Given the description of an element on the screen output the (x, y) to click on. 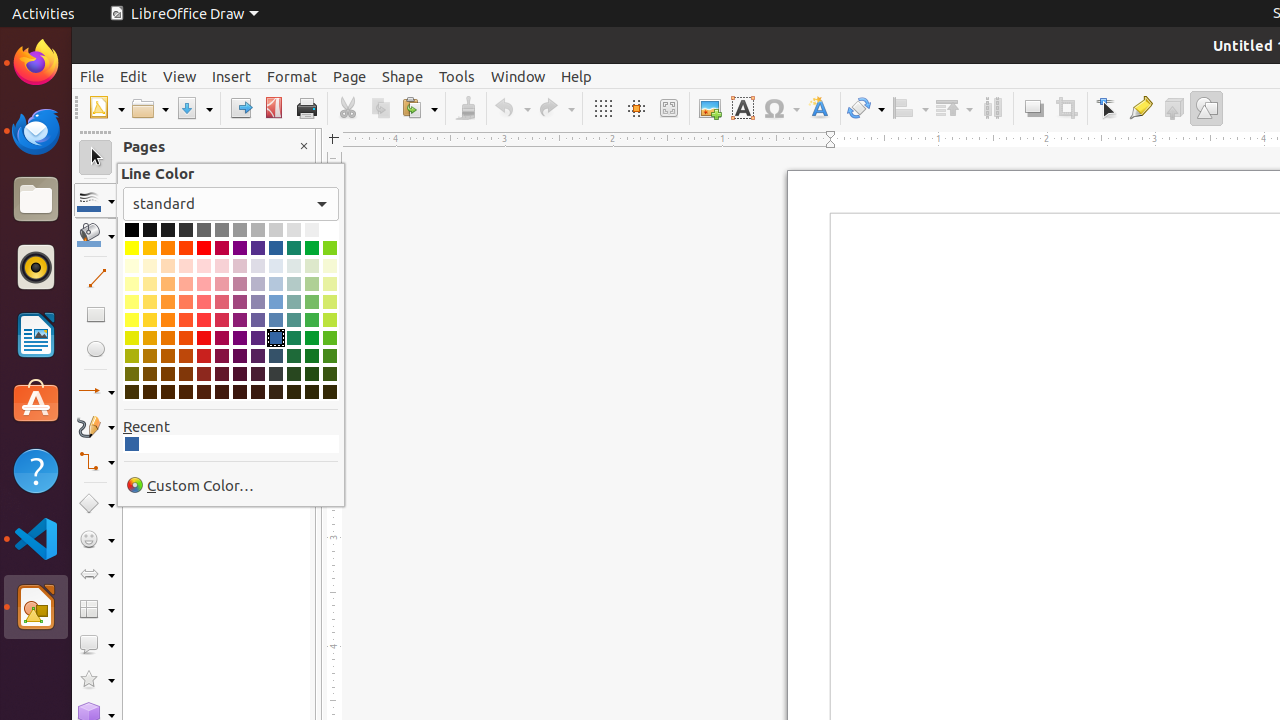
Light Lime 4 Element type: list-item (330, 266)
Dark Brick 4 Element type: list-item (186, 392)
Thunderbird Mail Element type: push-button (36, 131)
Light Orange 4 Element type: list-item (168, 266)
Draw Functions Element type: toggle-button (1206, 108)
